Given the description of an element on the screen output the (x, y) to click on. 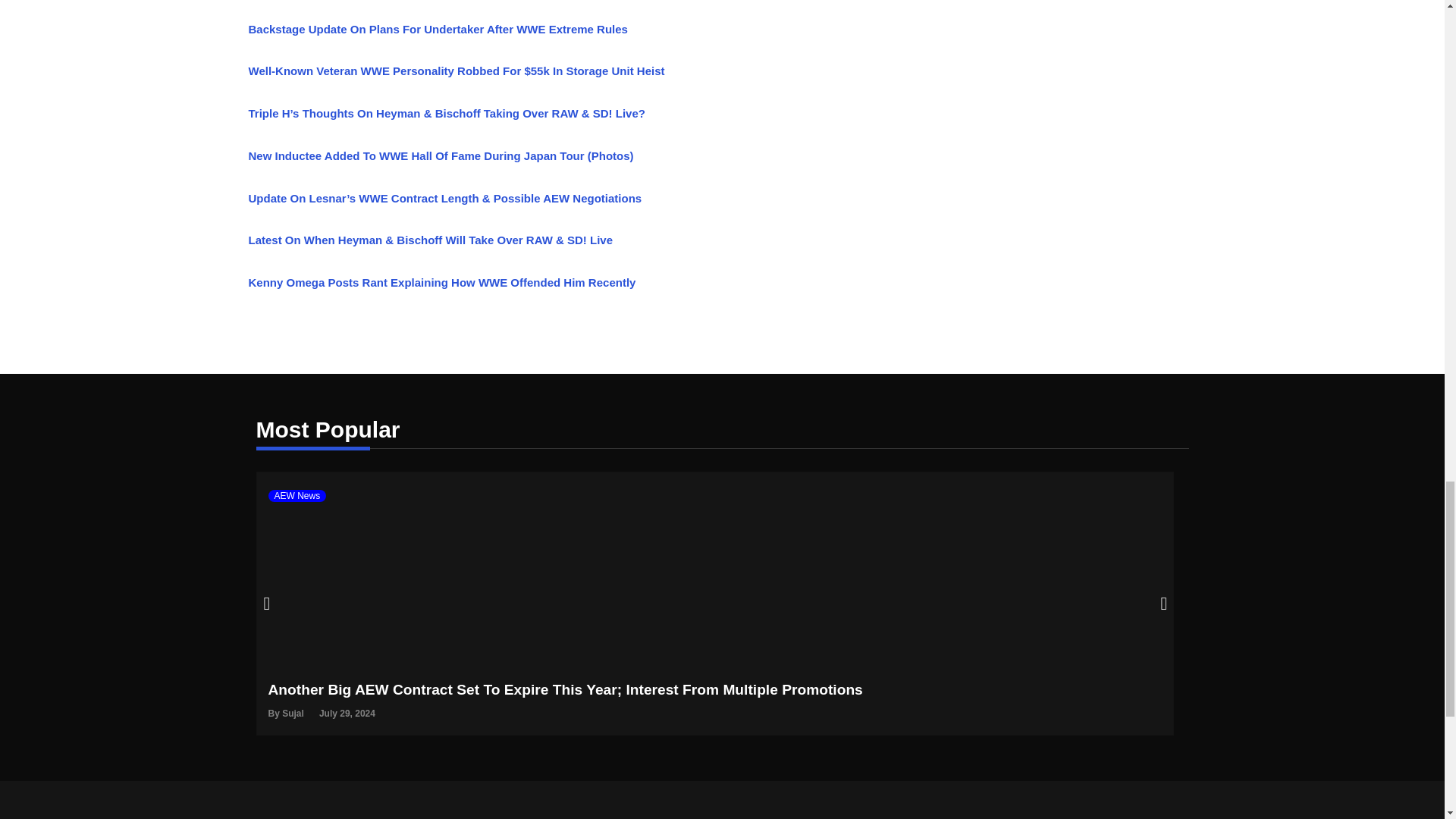
Posts by Sujal (292, 713)
